Given the description of an element on the screen output the (x, y) to click on. 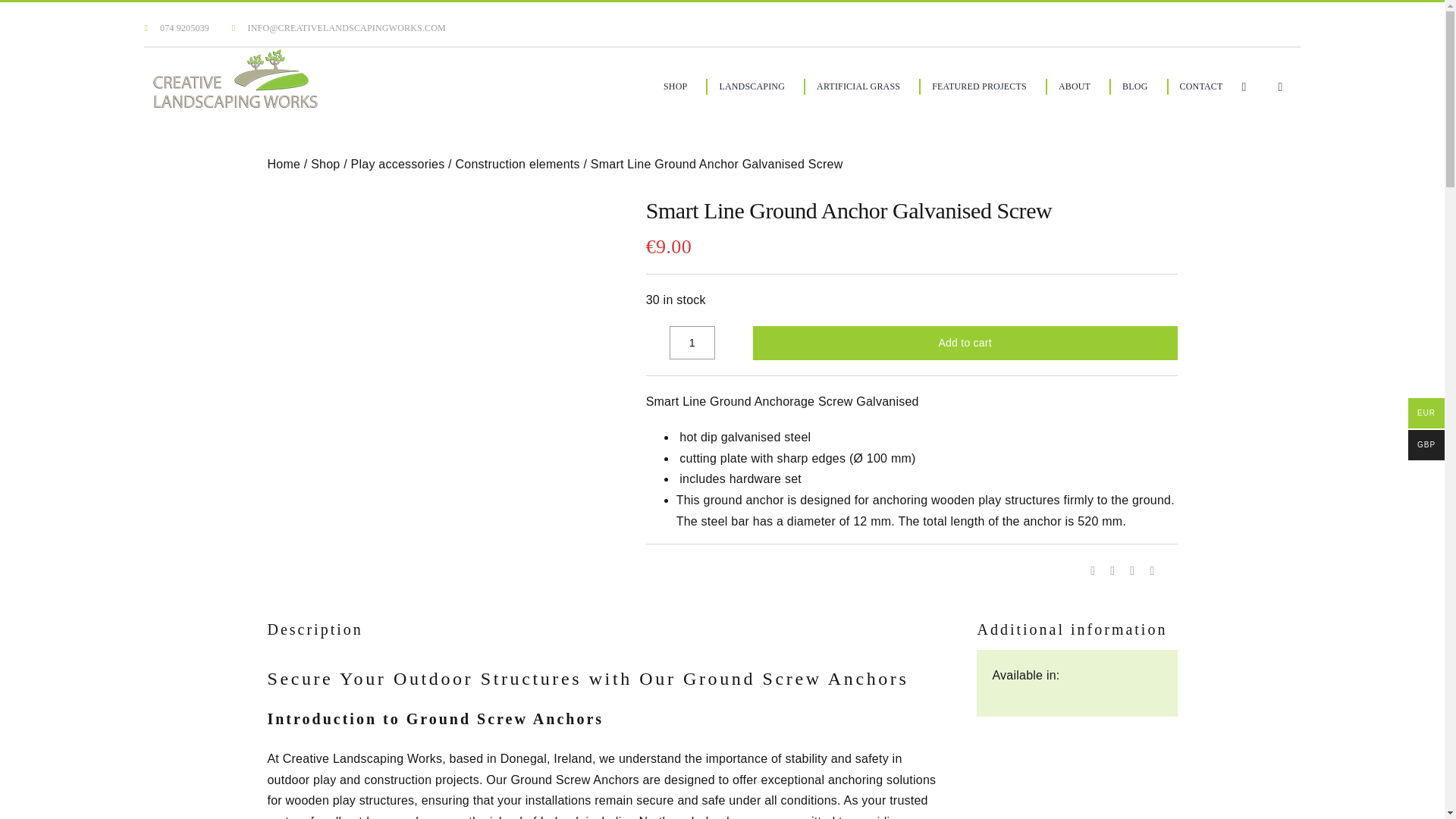
LANDSCAPING (751, 85)
X (1112, 570)
ARTIFICIAL GRASS (857, 85)
Email (1151, 570)
FEATURED PROJECTS (978, 85)
Home (282, 164)
Construction elements (516, 164)
CONTACT (1199, 85)
Shop (325, 164)
074 9205039 (176, 27)
